Given the description of an element on the screen output the (x, y) to click on. 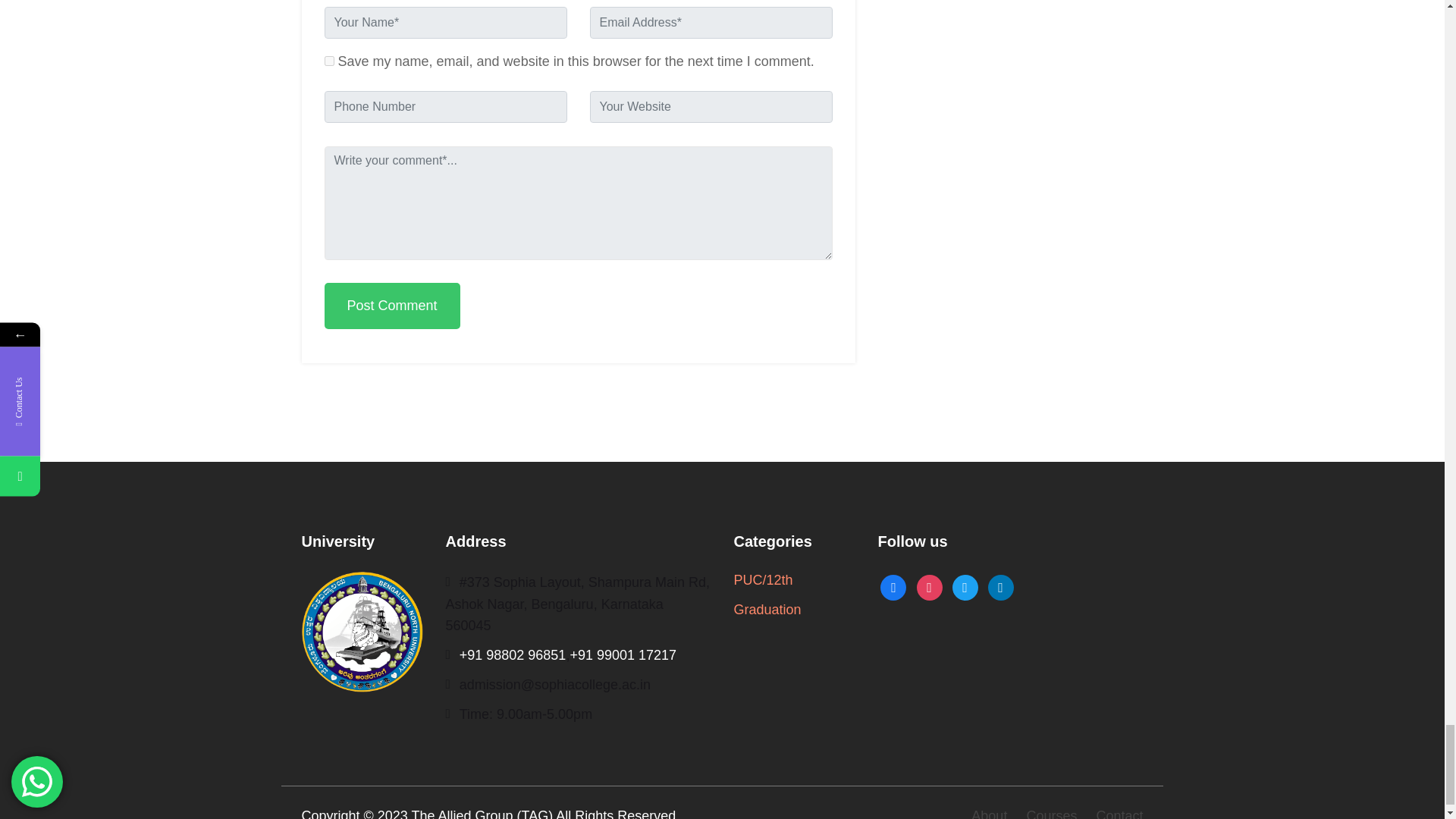
yes (329, 61)
